Given the description of an element on the screen output the (x, y) to click on. 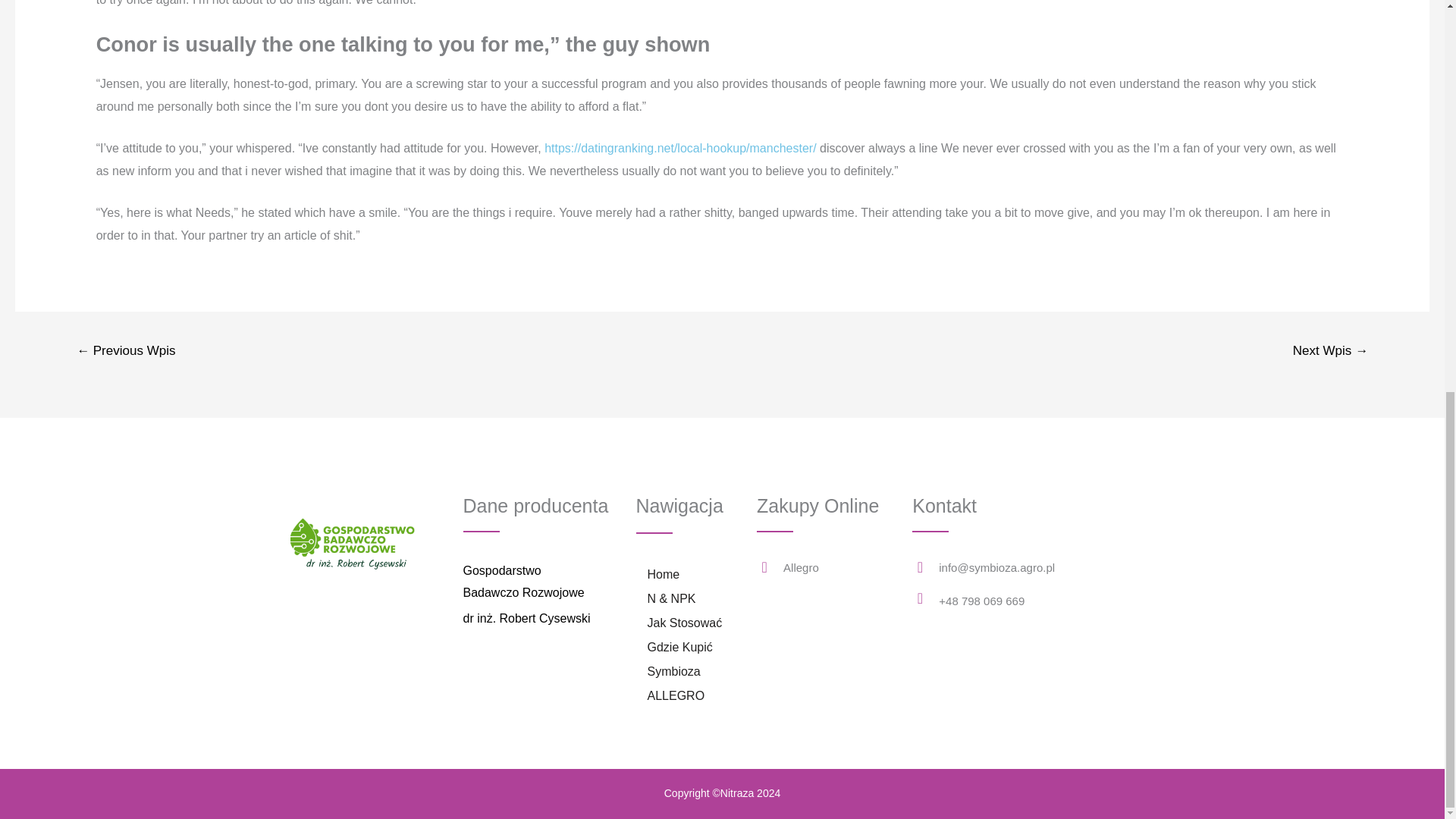
ALLEGRO (675, 695)
Home (662, 574)
Allegro (800, 567)
Symbioza (672, 671)
